Given the description of an element on the screen output the (x, y) to click on. 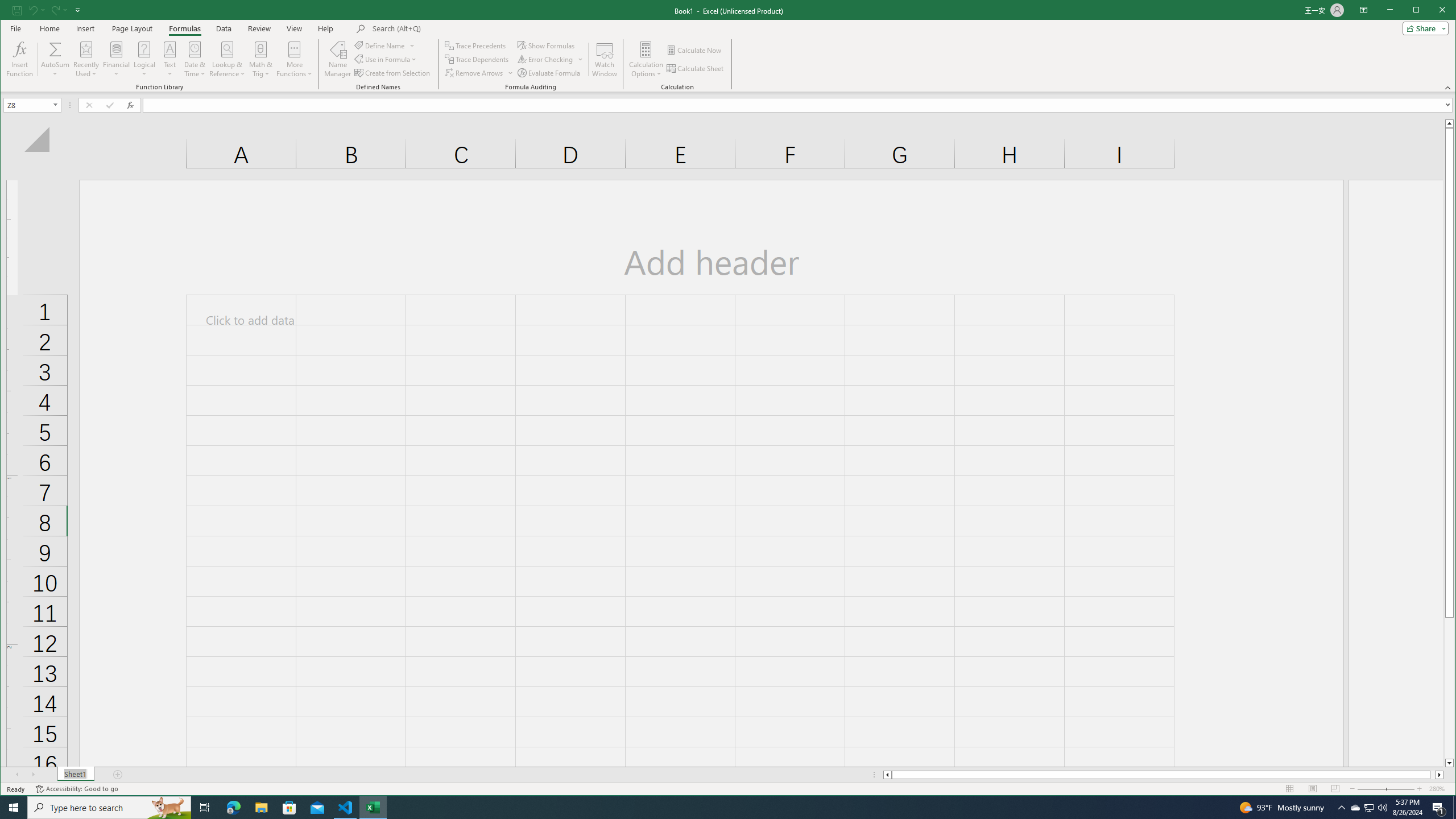
Use in Formula (386, 59)
Task View (204, 807)
Create from Selection... (392, 72)
Microsoft Edge (233, 807)
Financial (1368, 807)
Visual Studio Code - 1 running window (116, 59)
